Given the description of an element on the screen output the (x, y) to click on. 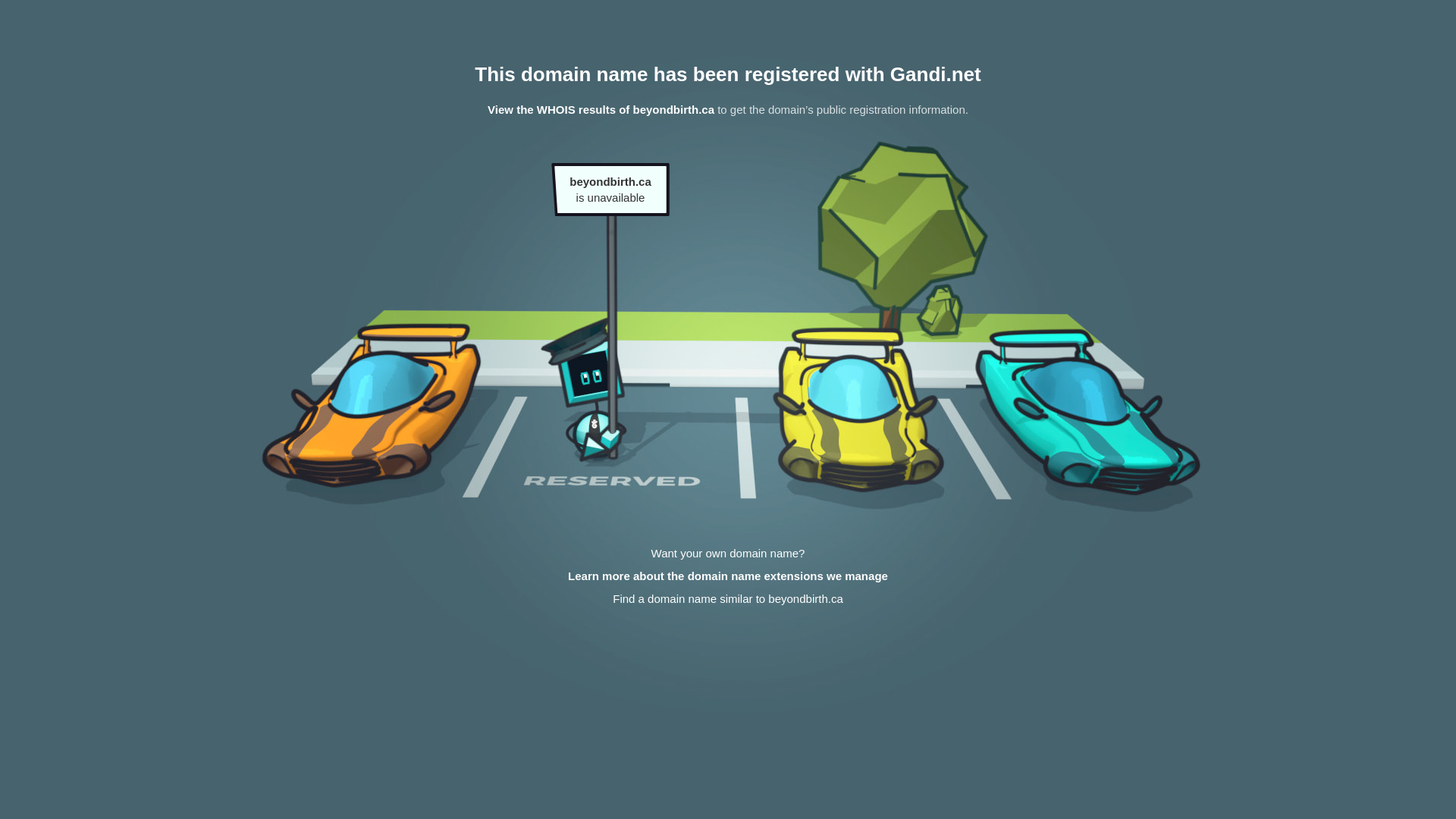
Find a domain name similar to beyondbirth.ca Element type: text (727, 598)
View the WHOIS results of beyondbirth.ca Element type: text (600, 109)
Learn more about the domain name extensions we manage Element type: text (727, 575)
